Given the description of an element on the screen output the (x, y) to click on. 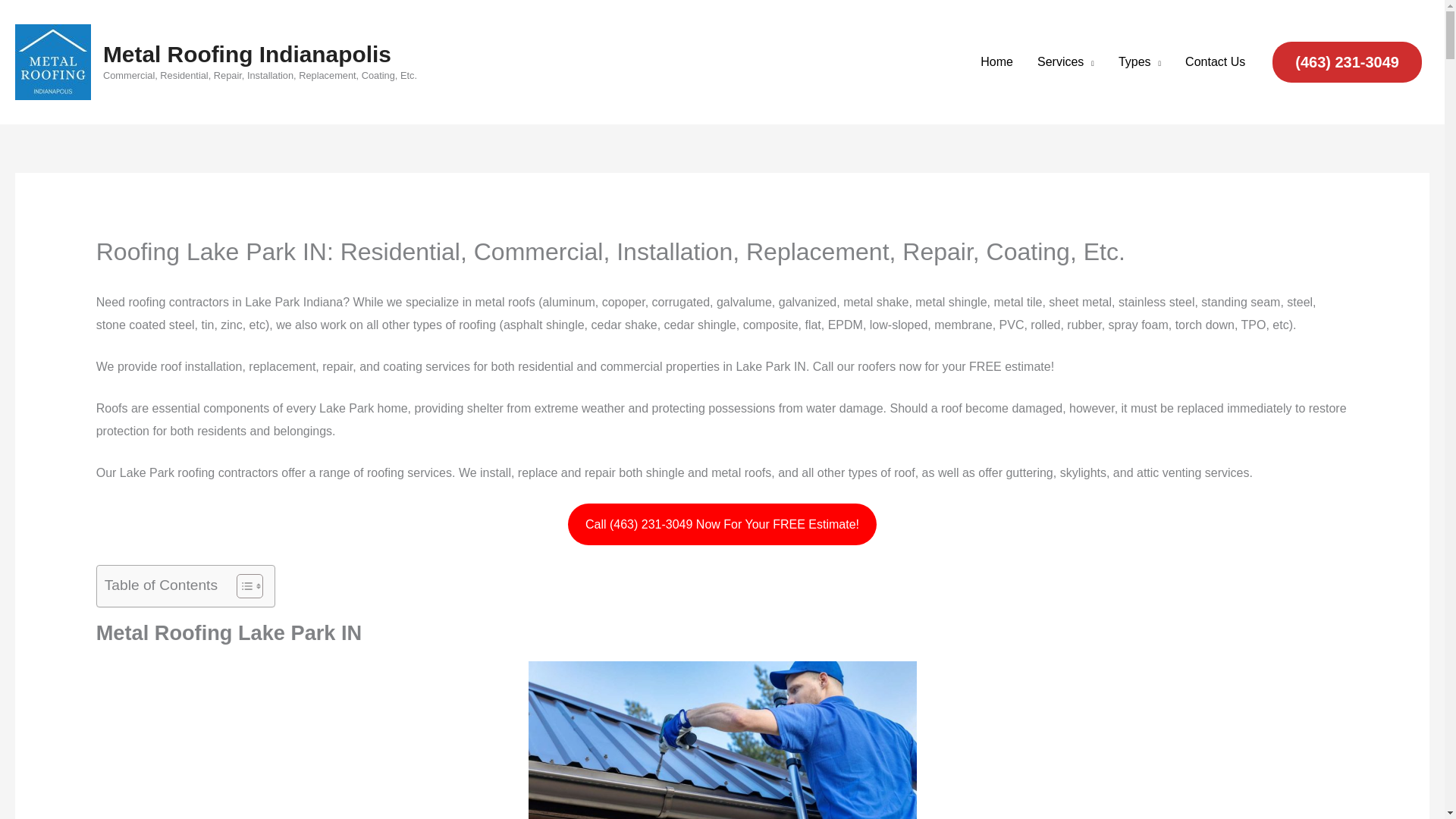
Home (996, 62)
Services (1065, 62)
Metal Roofing Indianapolis (247, 53)
